Given the description of an element on the screen output the (x, y) to click on. 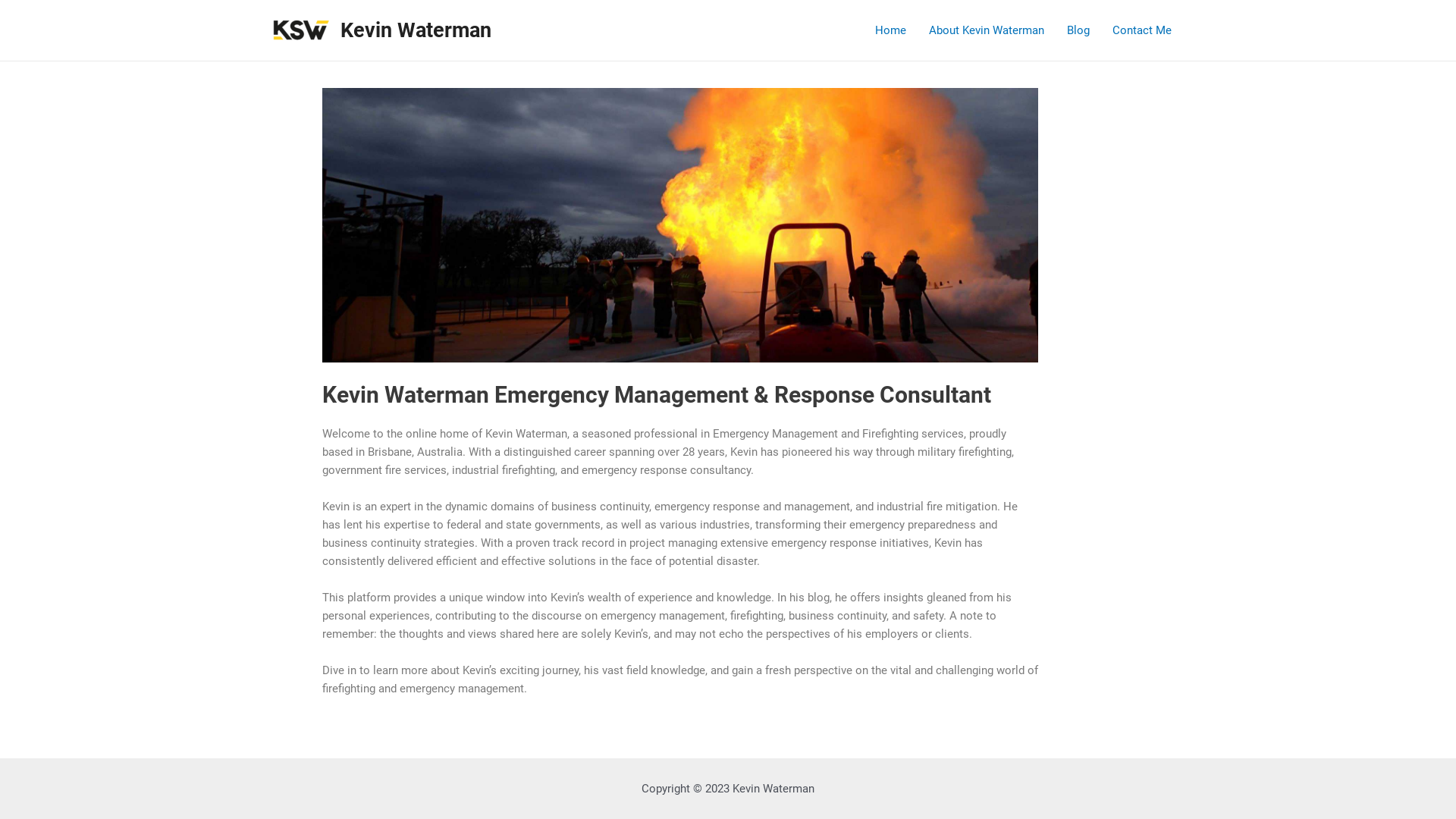
Blog Element type: text (1078, 30)
Home Element type: text (890, 30)
Contact Me Element type: text (1142, 30)
About Kevin Waterman Element type: text (986, 30)
Kevin Waterman Element type: text (415, 30)
